Given the description of an element on the screen output the (x, y) to click on. 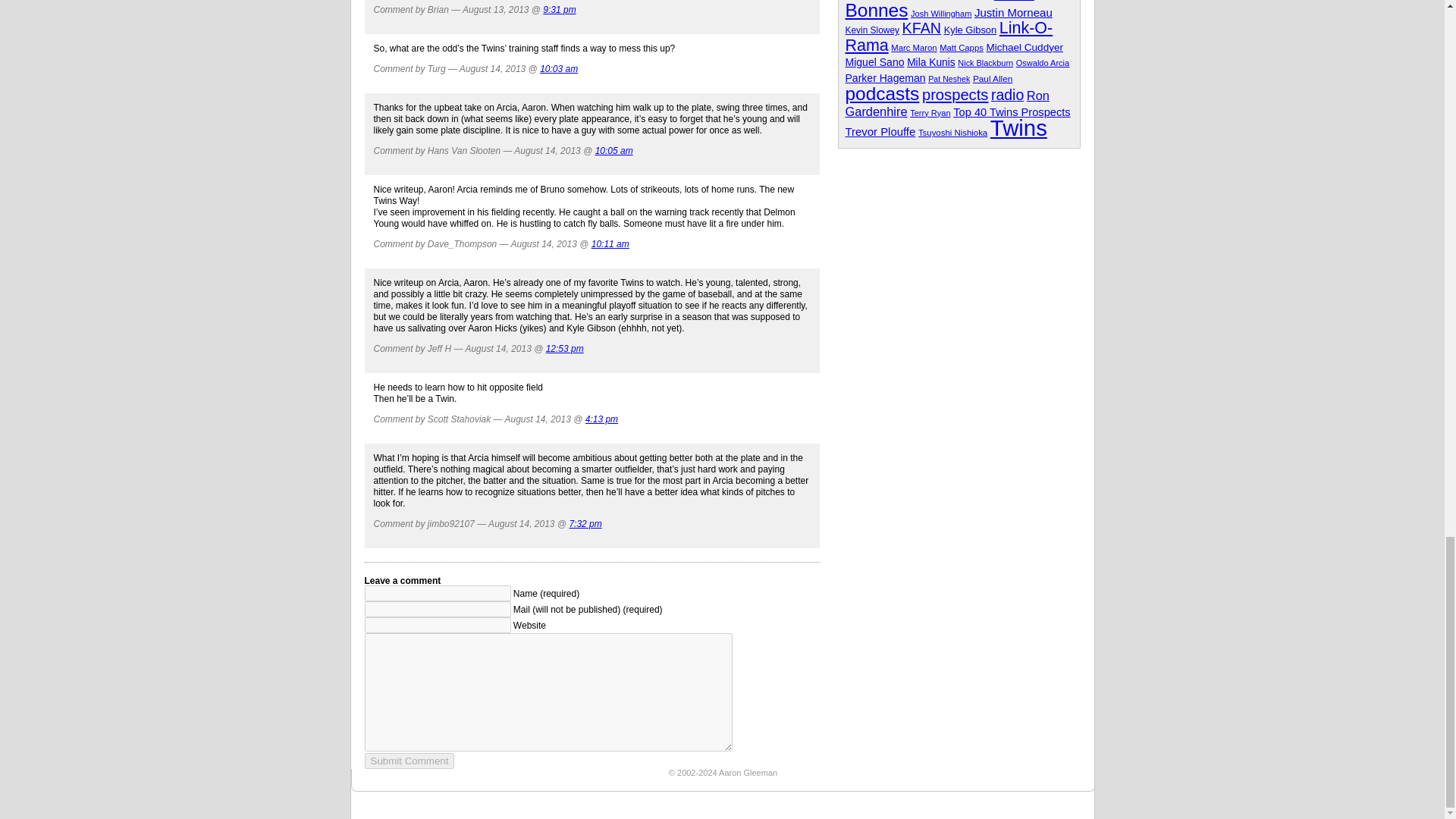
9:31 pm (559, 9)
7:32 pm (585, 523)
10:05 am (614, 150)
Submit Comment (409, 760)
10:11 am (609, 244)
10:03 am (559, 68)
Submit Comment (409, 760)
4:13 pm (601, 419)
12:53 pm (564, 348)
